Given the description of an element on the screen output the (x, y) to click on. 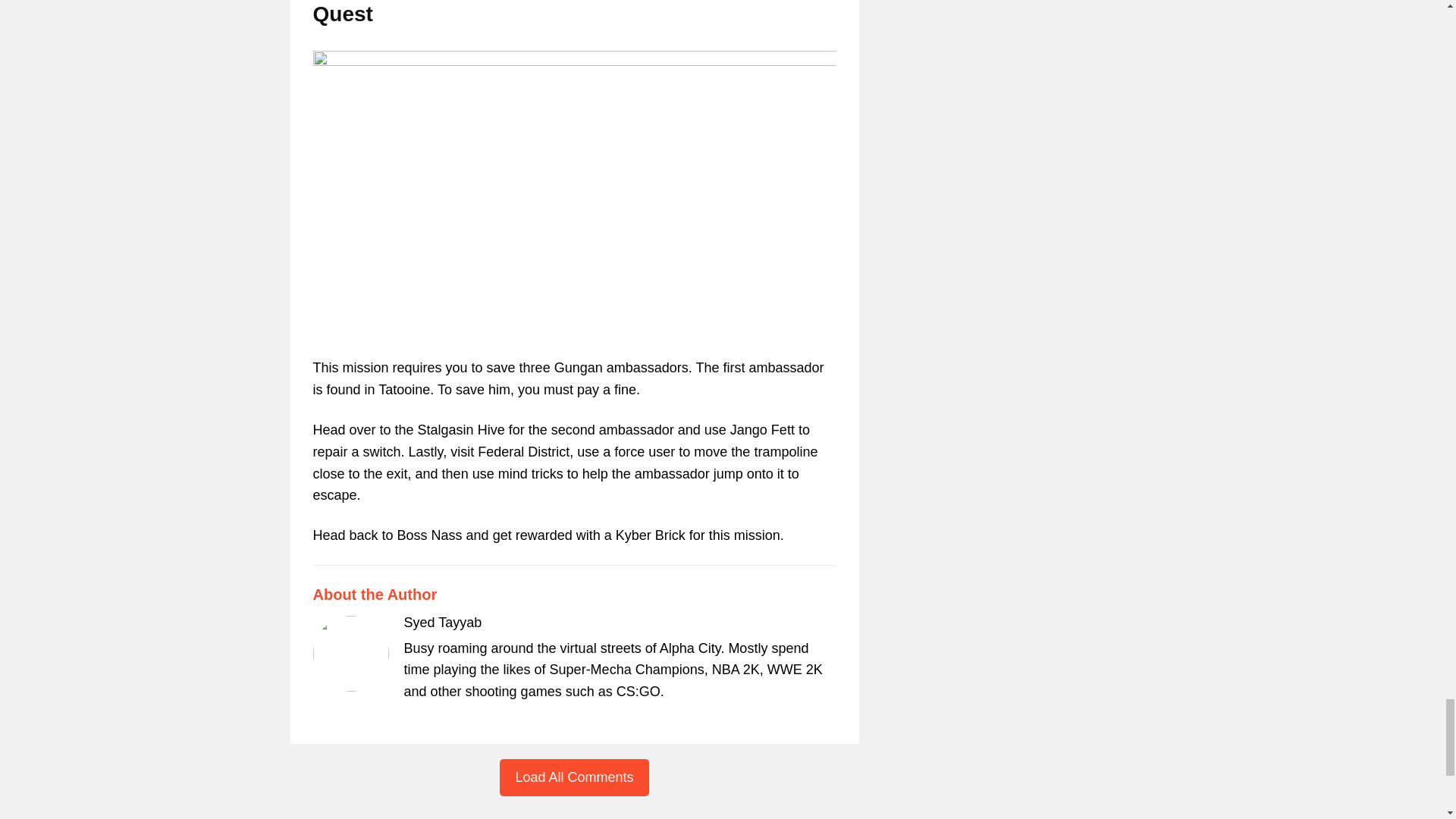
Syed Tayyab (442, 622)
Syed Tayyab (442, 622)
Load All Comments (573, 777)
